Given the description of an element on the screen output the (x, y) to click on. 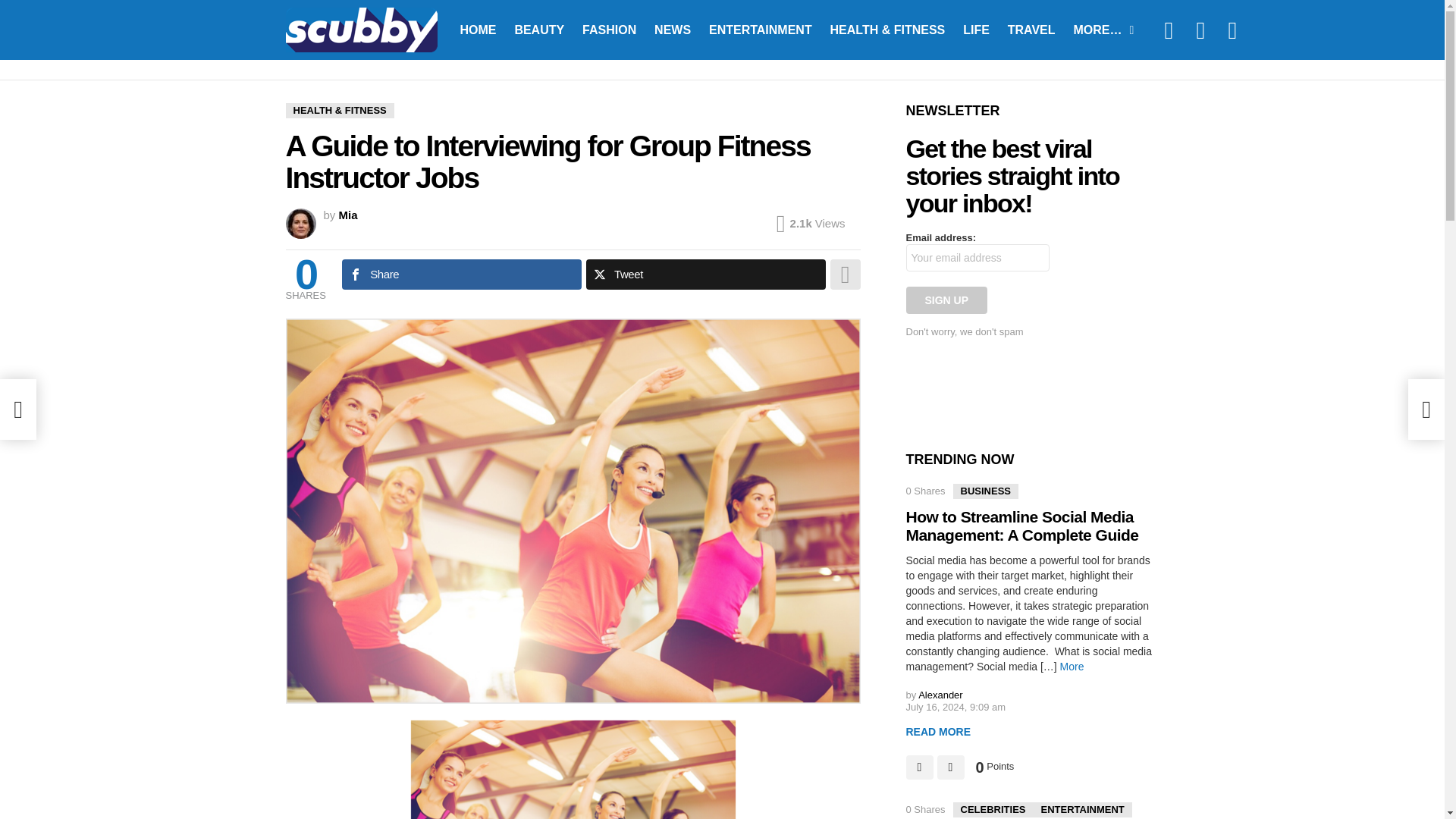
Tweet (705, 274)
FASHION (609, 29)
HOME (477, 29)
BEAUTY (539, 29)
TRAVEL (1031, 29)
NEWS (672, 29)
Downvote (950, 767)
ENTERTAINMENT (760, 29)
Posts by Mia (348, 214)
Mia (348, 214)
Share (461, 274)
Sign up (946, 299)
LIFE (976, 29)
Upvote (919, 767)
Posts by Alexander (940, 695)
